Given the description of an element on the screen output the (x, y) to click on. 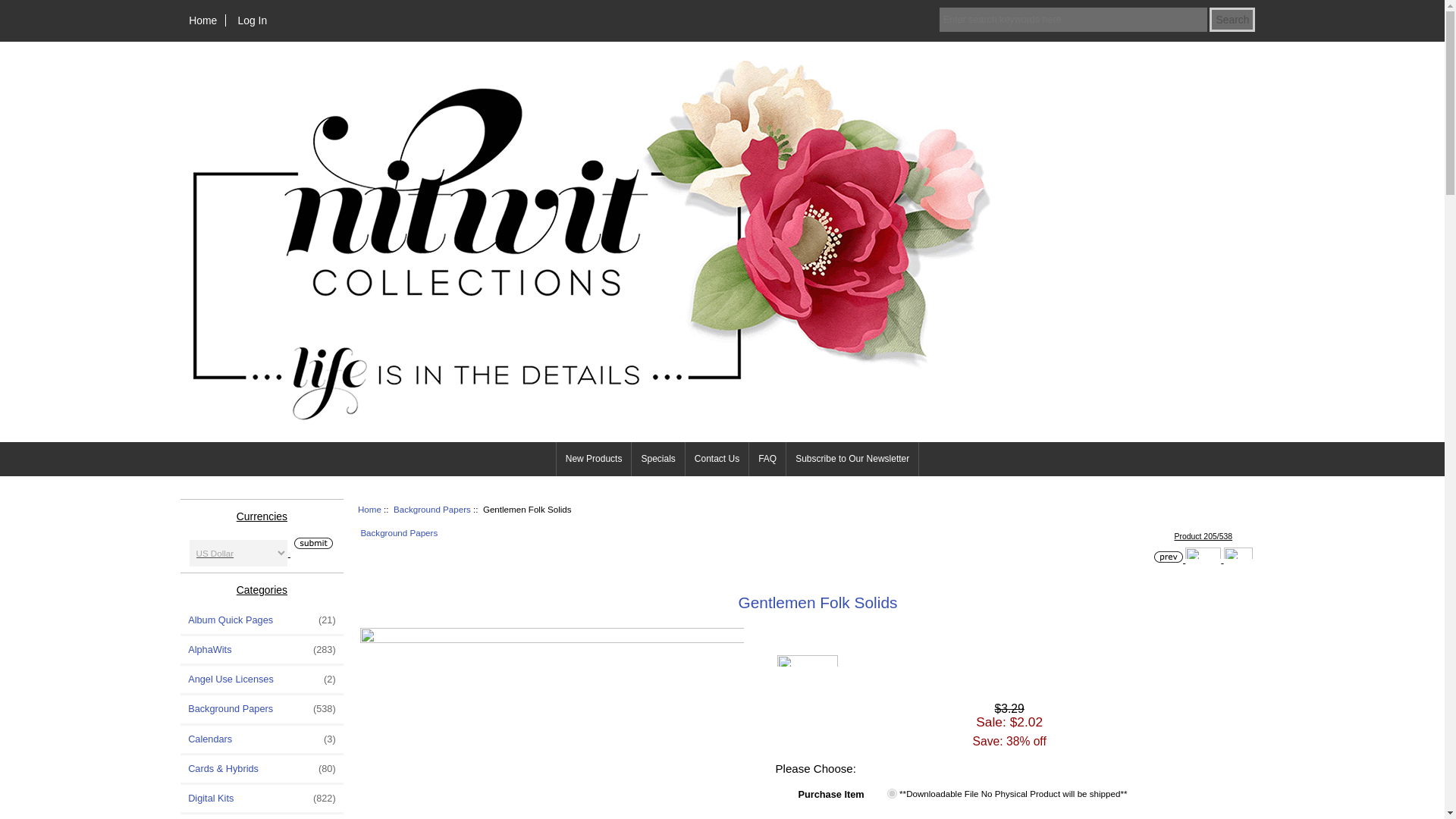
Return to the Product List (1203, 552)
Ask a Question (807, 660)
Search (1232, 19)
Home (202, 20)
Gentlemen Folk Solids (551, 723)
Log In (251, 20)
Specials (657, 458)
Next (1238, 552)
Previous (1168, 556)
